Given the description of an element on the screen output the (x, y) to click on. 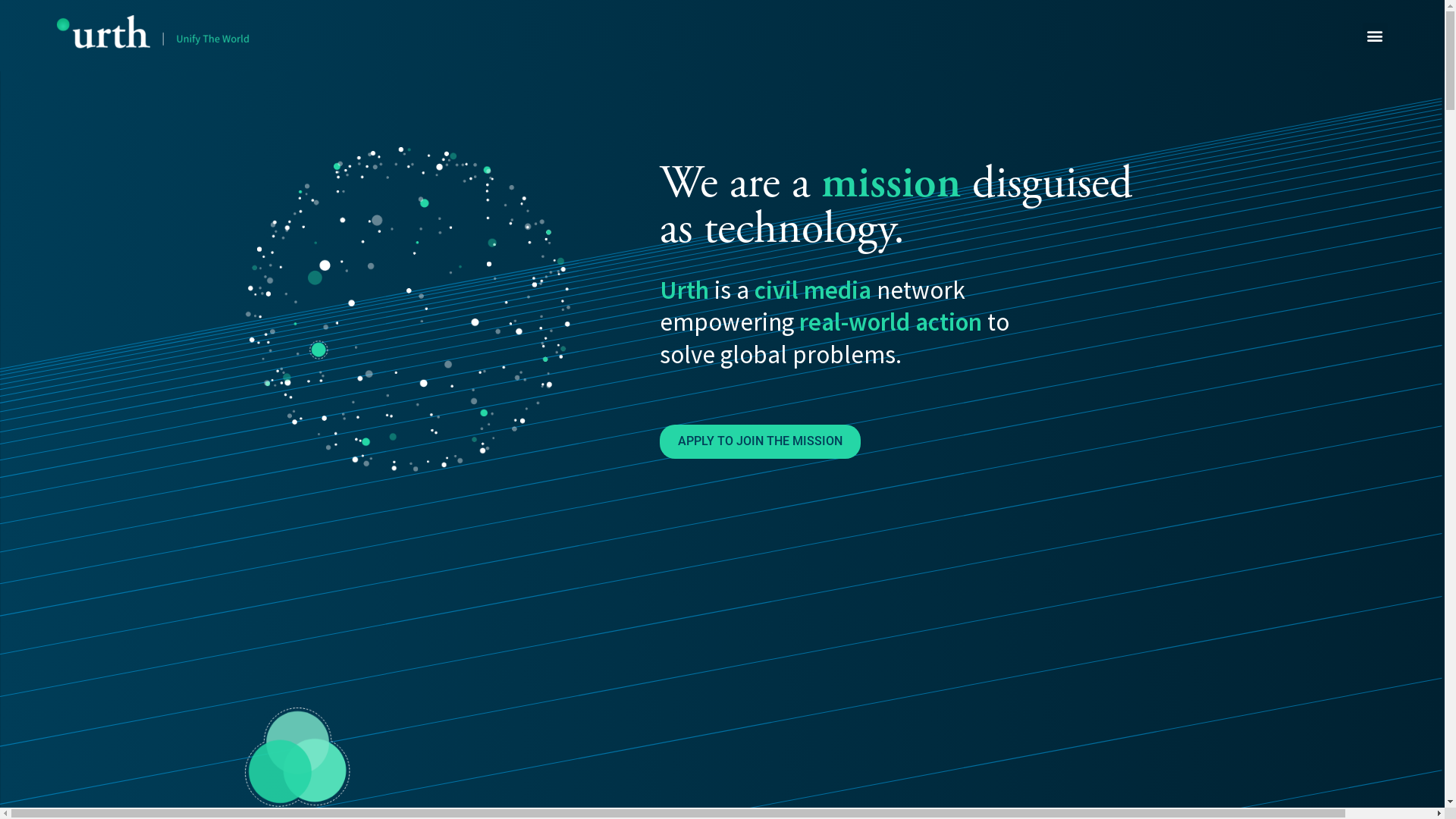
APPLY TO JOIN THE MISSION Element type: text (759, 441)
